Given the description of an element on the screen output the (x, y) to click on. 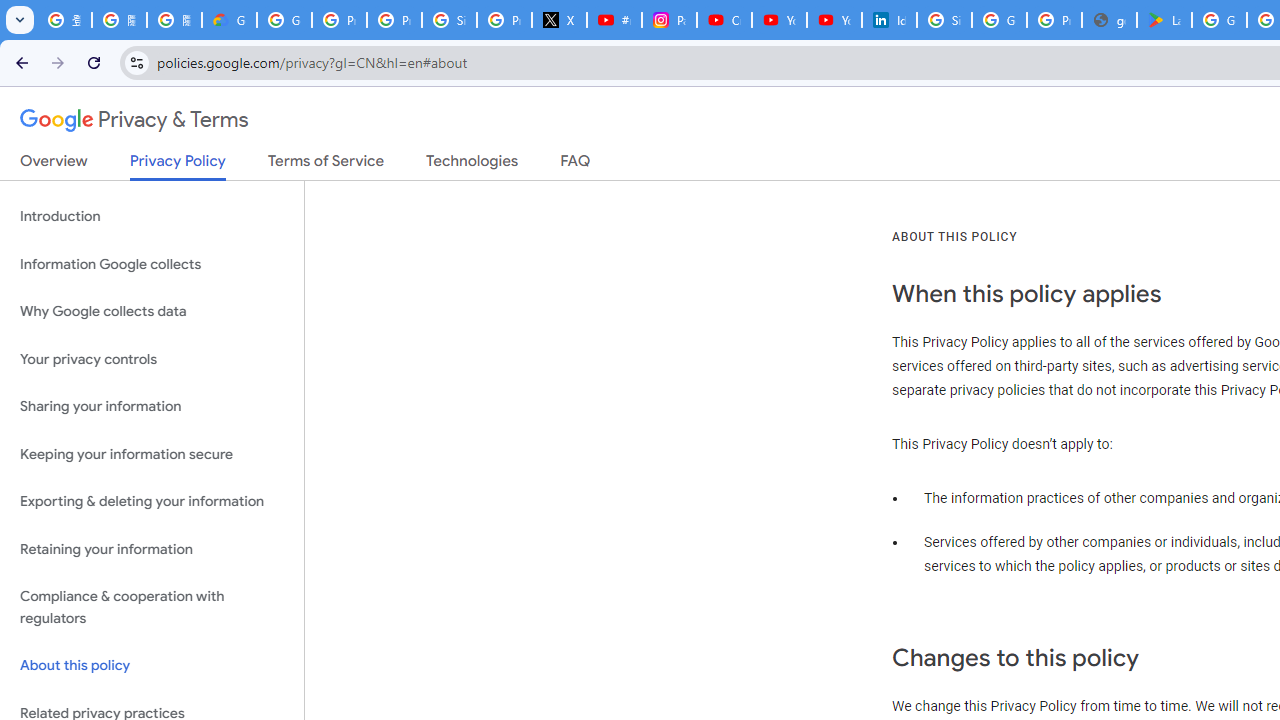
#nbabasketballhighlights - YouTube (614, 20)
YouTube Culture & Trends - YouTube Top 10, 2021 (833, 20)
Retaining your information (152, 548)
Sharing your information (152, 407)
Google Cloud Privacy Notice (229, 20)
Exporting & deleting your information (152, 502)
